Given the description of an element on the screen output the (x, y) to click on. 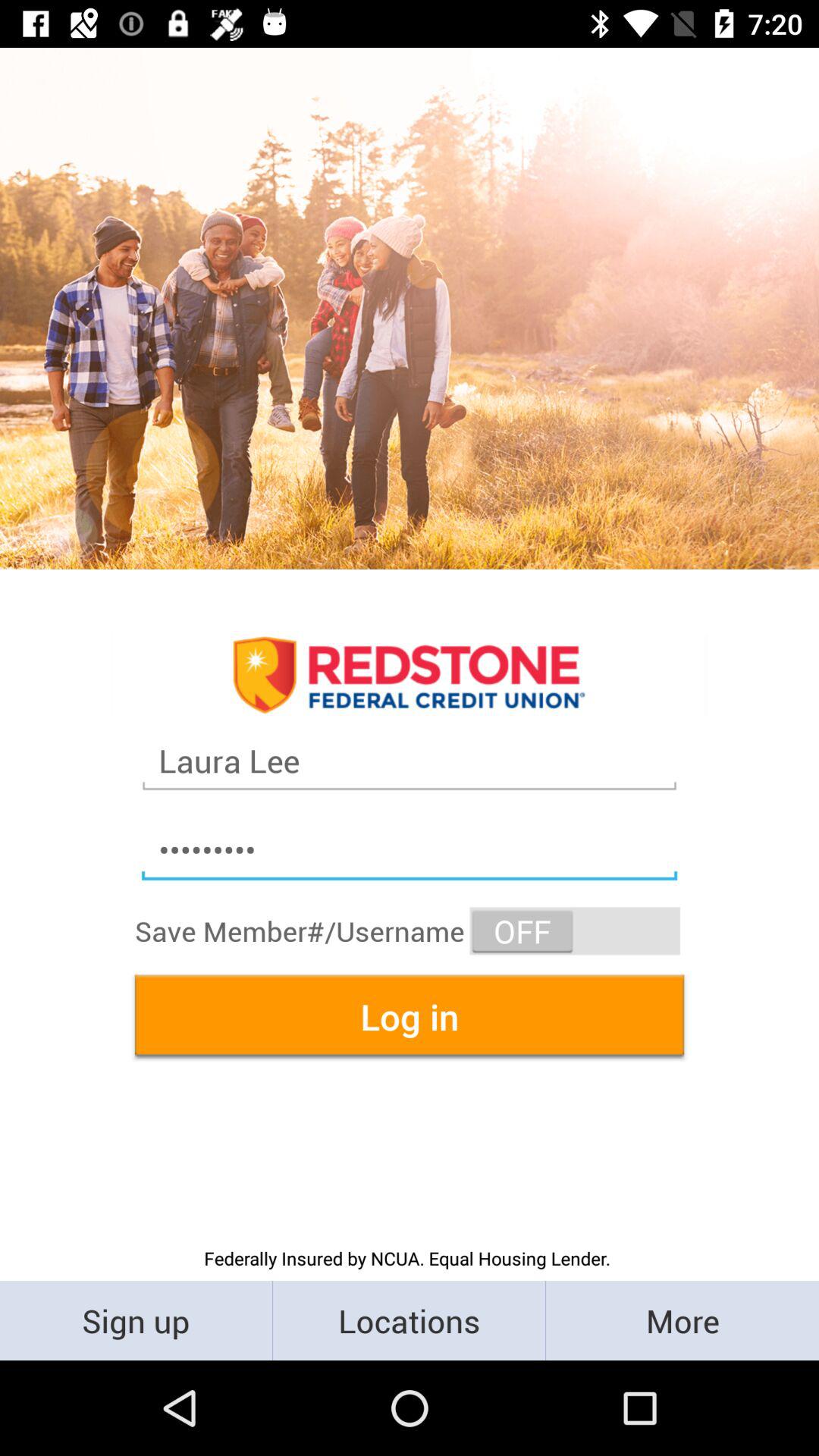
swipe to log in item (409, 1016)
